Given the description of an element on the screen output the (x, y) to click on. 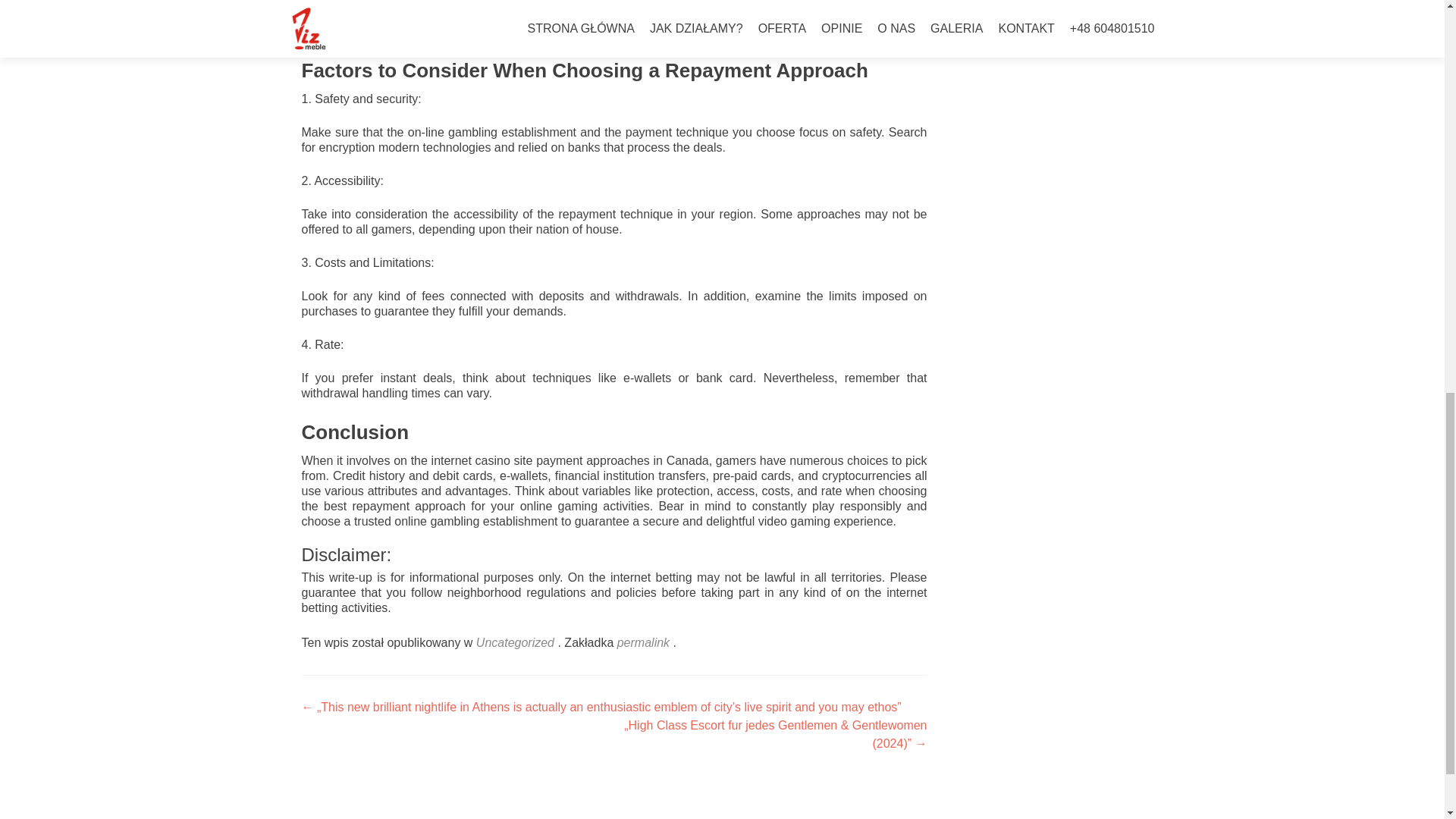
Uncategorized (515, 642)
permalink (644, 642)
